Given the description of an element on the screen output the (x, y) to click on. 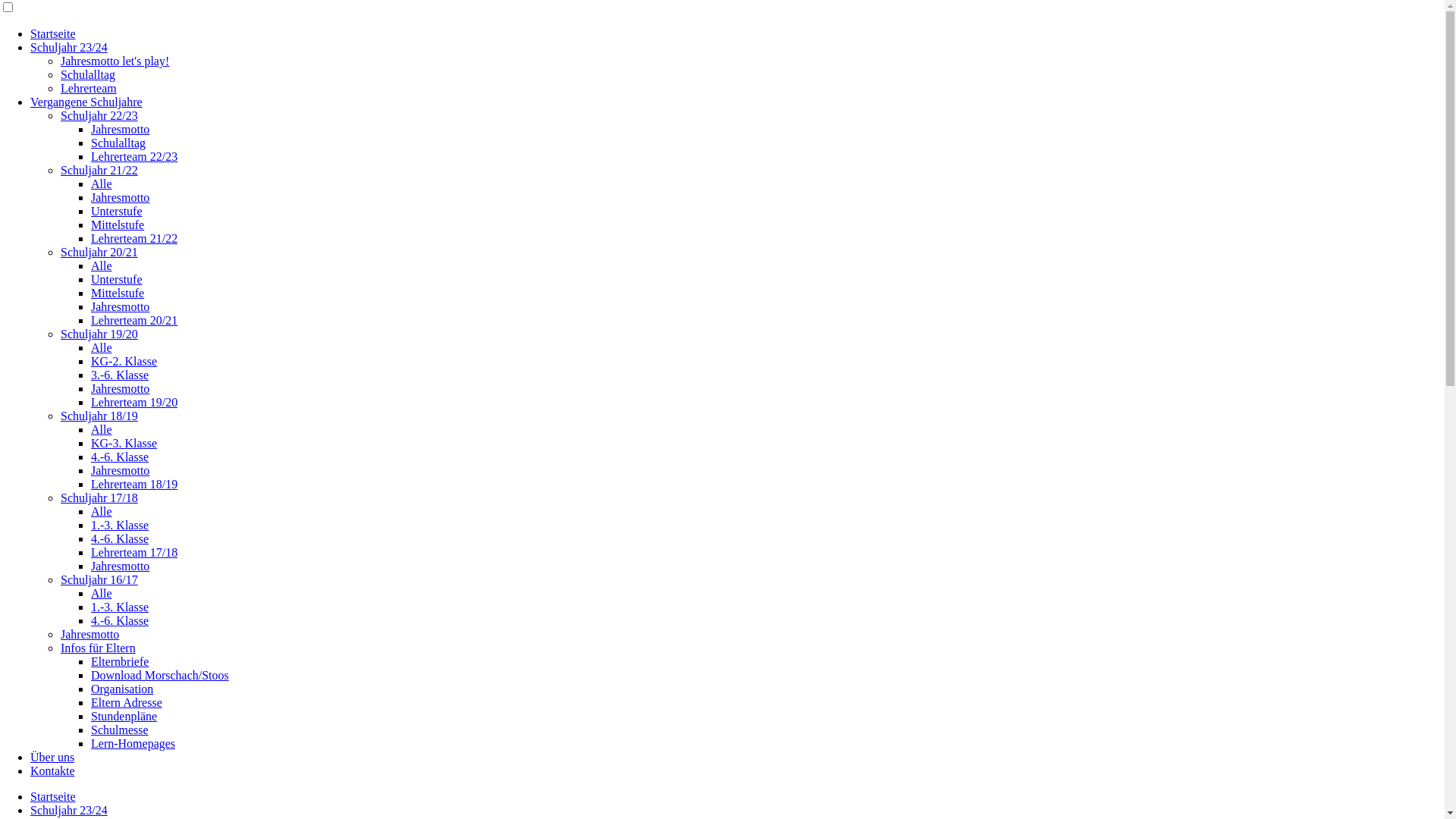
Schuljahr 23/24 Element type: text (68, 46)
Lehrerteam Element type: text (88, 87)
Jahresmotto Element type: text (120, 470)
Schuljahr 22/23 Element type: text (99, 115)
Jahresmotto let's play! Element type: text (114, 60)
Alle Element type: text (101, 183)
Alle Element type: text (101, 429)
3.-6. Klasse Element type: text (119, 374)
4.-6. Klasse Element type: text (119, 538)
4.-6. Klasse Element type: text (119, 620)
Organisation Element type: text (122, 688)
Lehrerteam 19/20 Element type: text (134, 401)
Vergangene Schuljahre Element type: text (86, 101)
Kontakte Element type: text (52, 770)
Lehrerteam 20/21 Element type: text (134, 319)
1.-3. Klasse Element type: text (119, 524)
Jahresmotto Element type: text (120, 306)
Startseite Element type: text (52, 796)
KG-3. Klasse Element type: text (123, 442)
Jahresmotto Element type: text (120, 128)
Lehrerteam 22/23 Element type: text (134, 156)
Mittelstufe Element type: text (117, 224)
Schuljahr 17/18 Element type: text (99, 497)
Schuljahr 20/21 Element type: text (99, 251)
Jahresmotto Element type: text (89, 633)
Schuljahr 23/24 Element type: text (68, 809)
Schuljahr 18/19 Element type: text (99, 415)
Unterstufe Element type: text (116, 279)
Schuljahr 16/17 Element type: text (99, 579)
1.-3. Klasse Element type: text (119, 606)
Alle Element type: text (101, 347)
Jahresmotto Element type: text (120, 565)
Lehrerteam 21/22 Element type: text (134, 238)
Alle Element type: text (101, 265)
Mittelstufe Element type: text (117, 292)
Schulalltag Element type: text (87, 74)
Schuljahr 21/22 Element type: text (99, 169)
Unterstufe Element type: text (116, 210)
Alle Element type: text (101, 592)
Eltern Adresse Element type: text (126, 702)
Lehrerteam 17/18 Element type: text (134, 552)
Jahresmotto Element type: text (120, 388)
Download Morschach/Stoos Element type: text (160, 674)
Jahresmotto Element type: text (120, 197)
Alle Element type: text (101, 511)
Lern-Homepages Element type: text (133, 743)
Lehrerteam 18/19 Element type: text (134, 483)
Schuljahr 19/20 Element type: text (99, 333)
Schulalltag Element type: text (118, 142)
KG-2. Klasse Element type: text (123, 360)
4.-6. Klasse Element type: text (119, 456)
Schulmesse Element type: text (119, 729)
Elternbriefe Element type: text (119, 661)
Startseite Element type: text (52, 33)
